Given the description of an element on the screen output the (x, y) to click on. 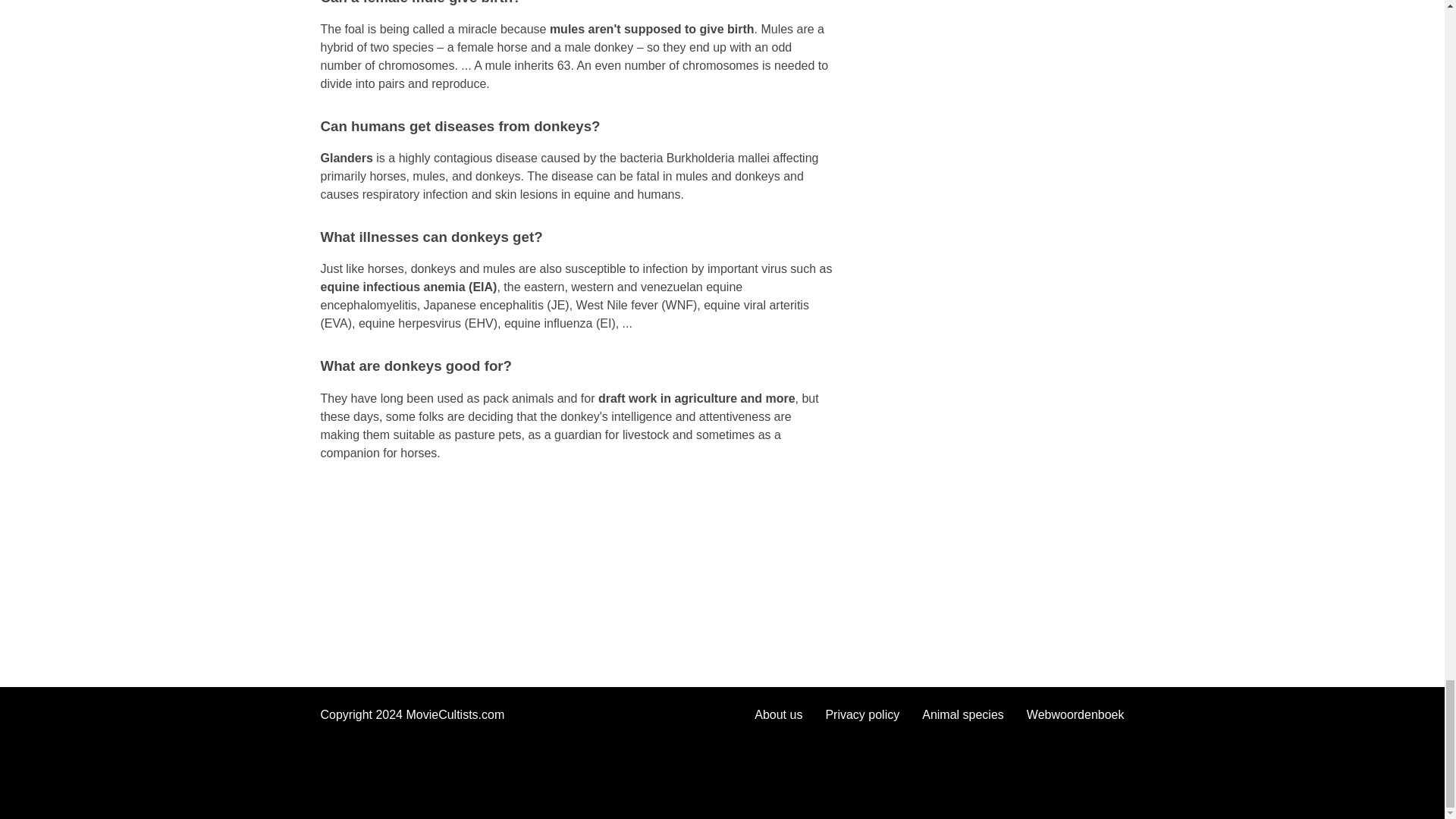
Webwoordenboek (1075, 714)
Privacy policy (862, 714)
Animal species (962, 714)
About us (778, 714)
